Given the description of an element on the screen output the (x, y) to click on. 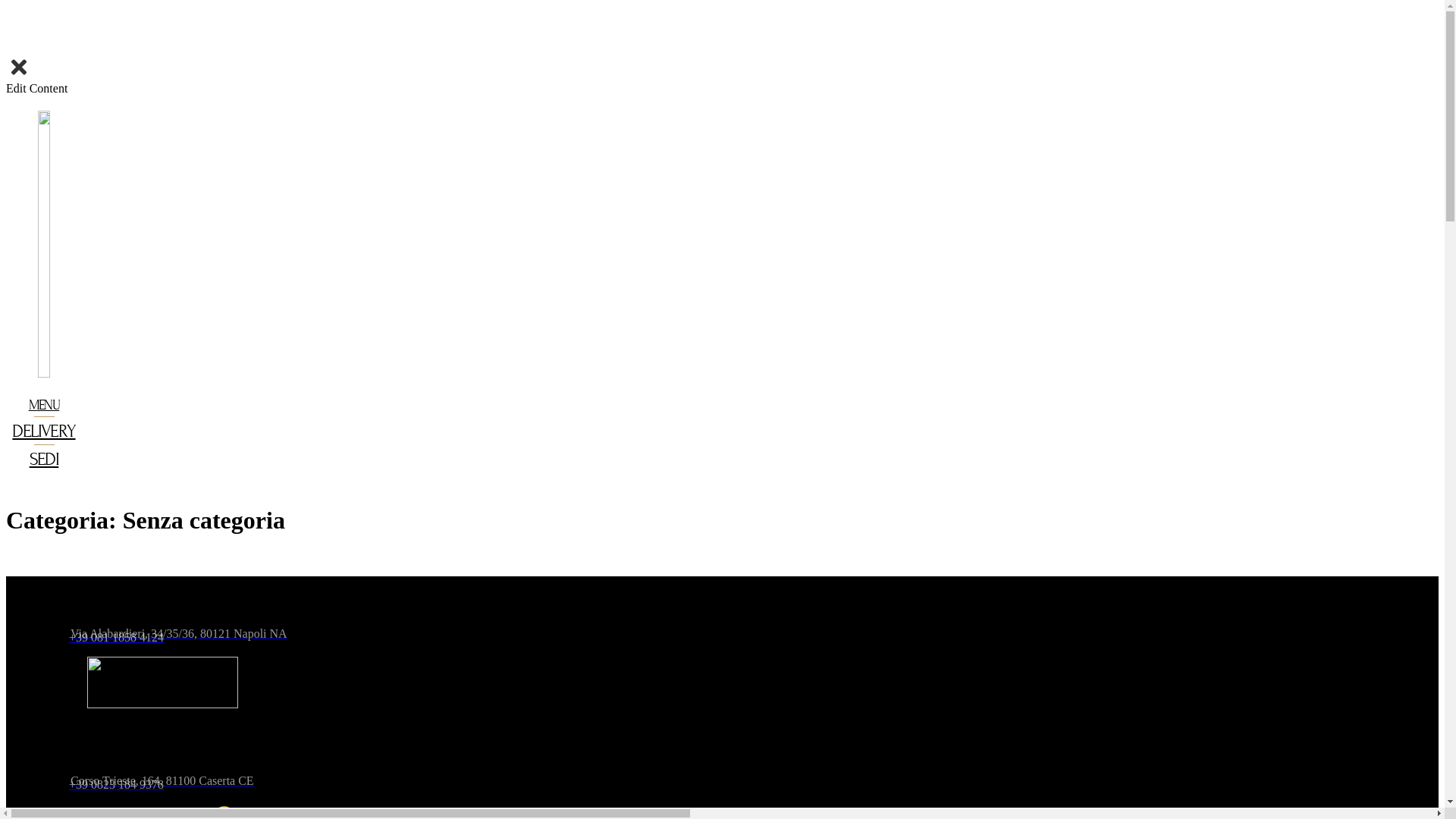
+39 0823 184 9378 Element type: text (525, 784)
SEDI Element type: text (44, 458)
Corso Trieste, 164, 81100 Caserta CE Element type: text (525, 771)
Via Alabardieri, 34/35/36, 80121 Napoli NA Element type: text (525, 624)
+39 081 1858 4124 Element type: text (525, 637)
DELIVERY Element type: text (43, 430)
MENU Element type: text (43, 404)
